Given the description of an element on the screen output the (x, y) to click on. 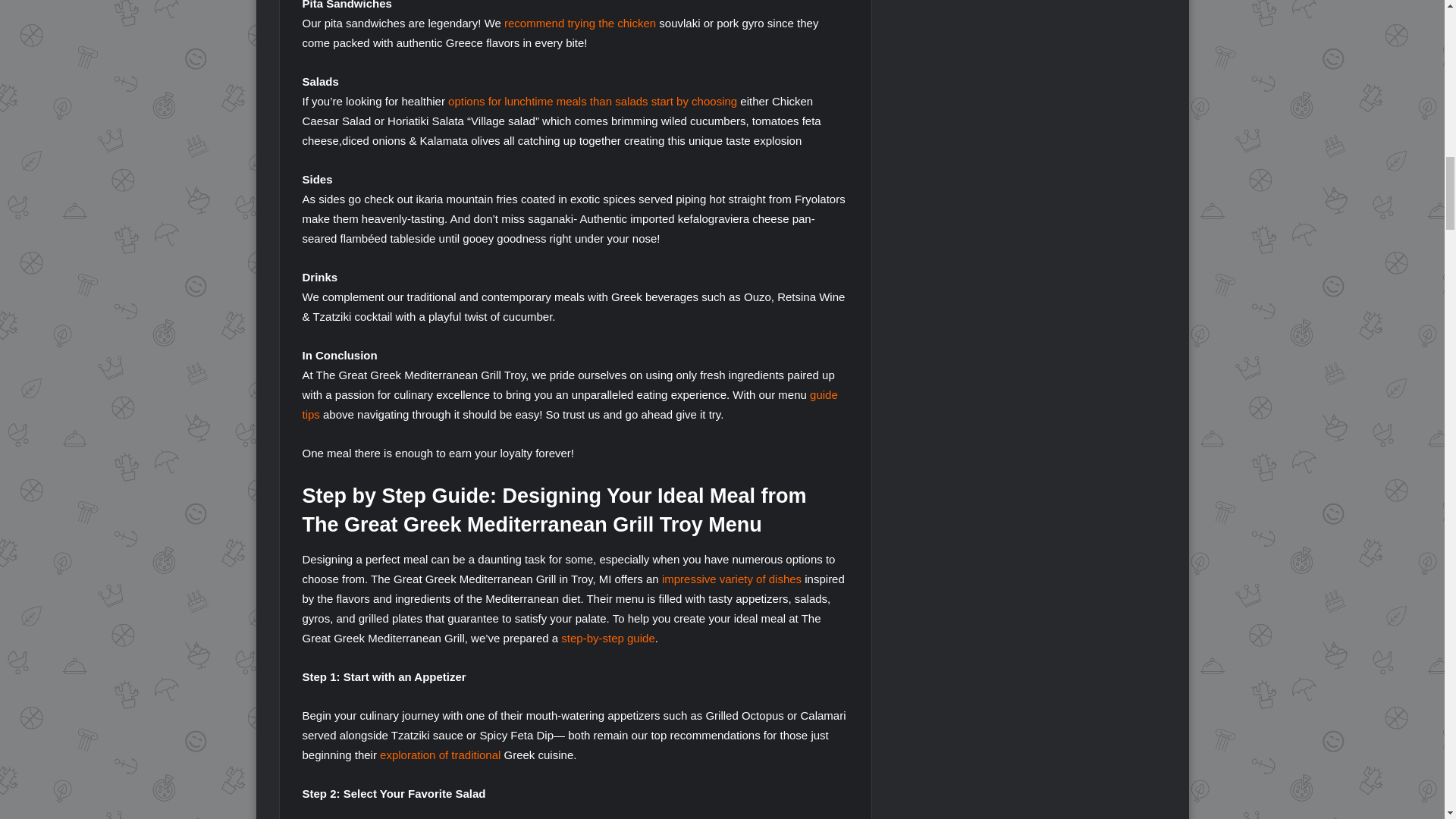
exploration of traditional (440, 754)
impressive variety of dishes (732, 578)
recommend trying the chicken (579, 22)
options for lunchtime meals than salads start by choosing (592, 101)
step-by-step guide (606, 637)
guide tips (569, 404)
